Given the description of an element on the screen output the (x, y) to click on. 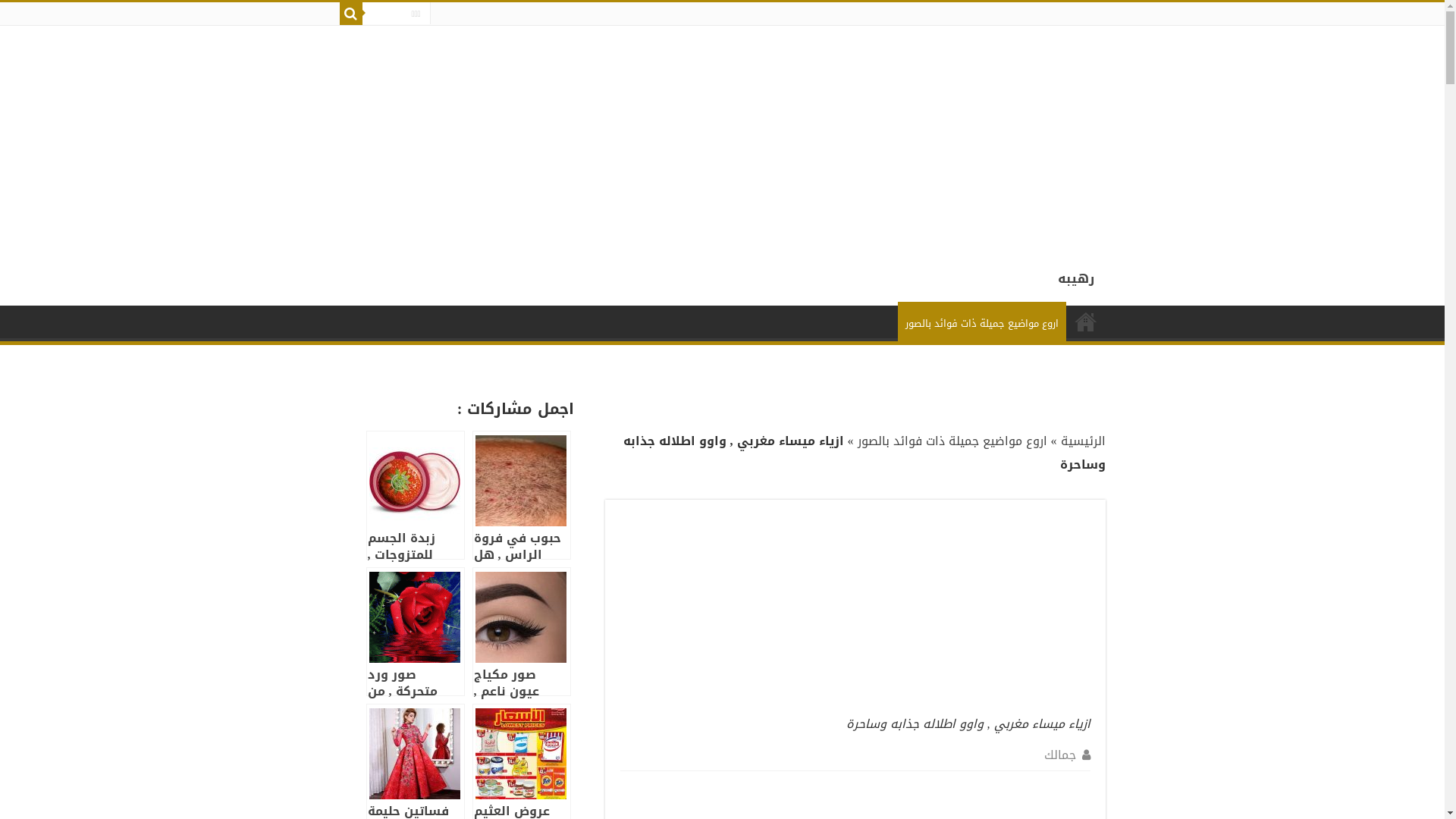
Advertisement Element type: hover (989, 131)
Advertisement Element type: hover (976, 609)
